Given the description of an element on the screen output the (x, y) to click on. 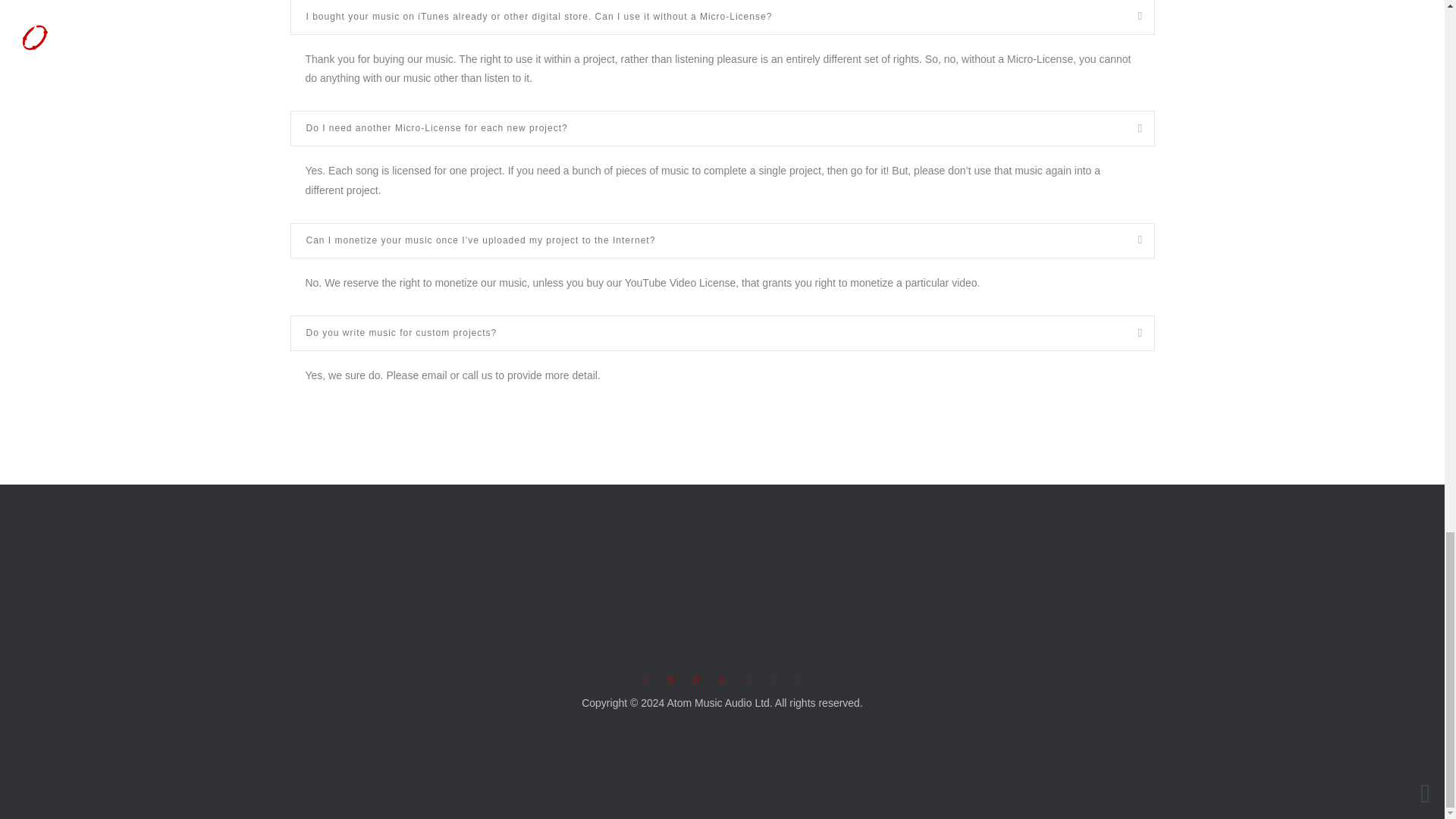
Do you write music for custom projects? (721, 333)
Primal Consultancy - working digital solutions (722, 739)
Primal Consultancy - working digital solutions (722, 739)
Do I need another Micro-License for each new project? (721, 128)
